Given the description of an element on the screen output the (x, y) to click on. 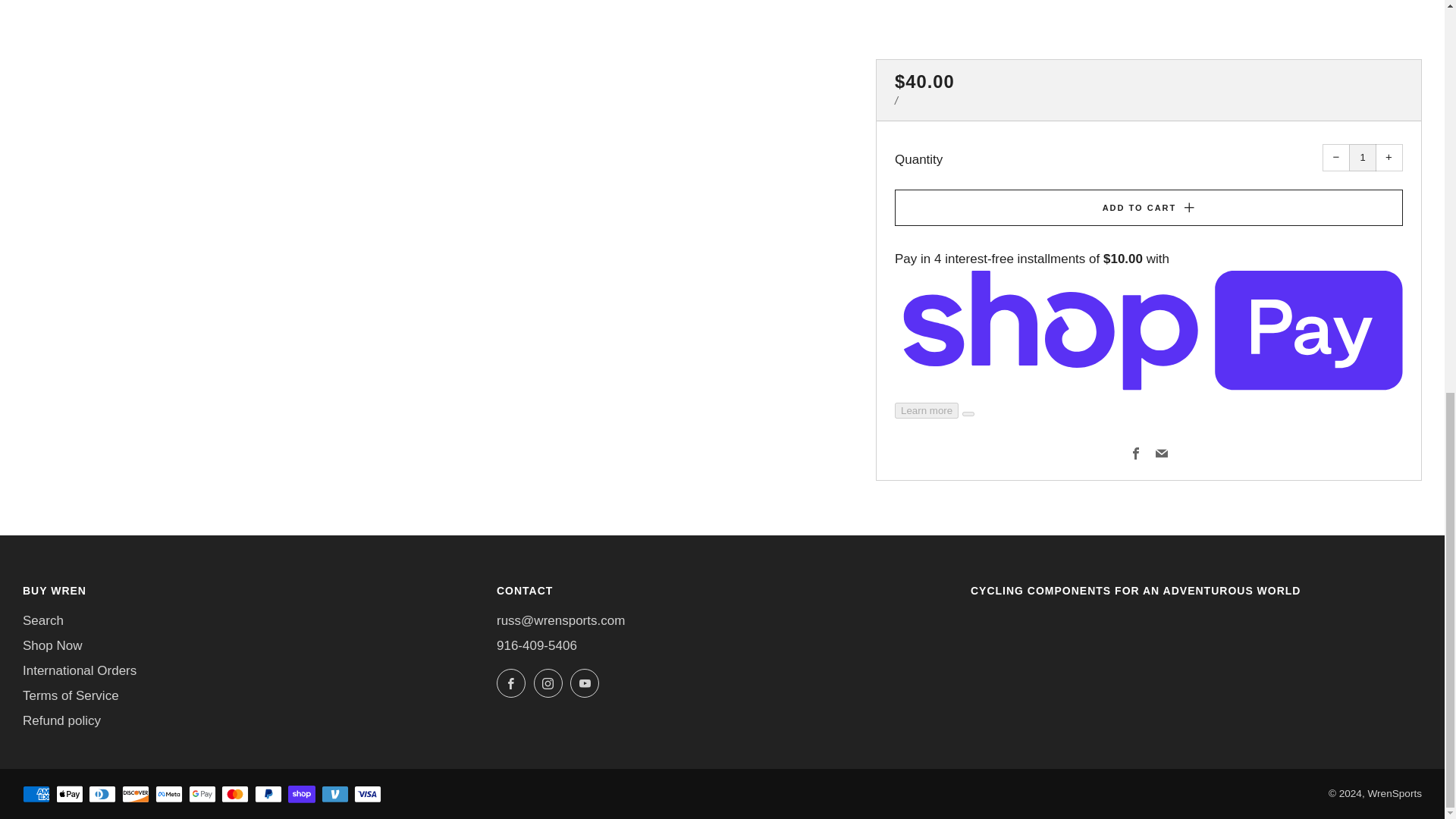
1 (1362, 157)
